Given the description of an element on the screen output the (x, y) to click on. 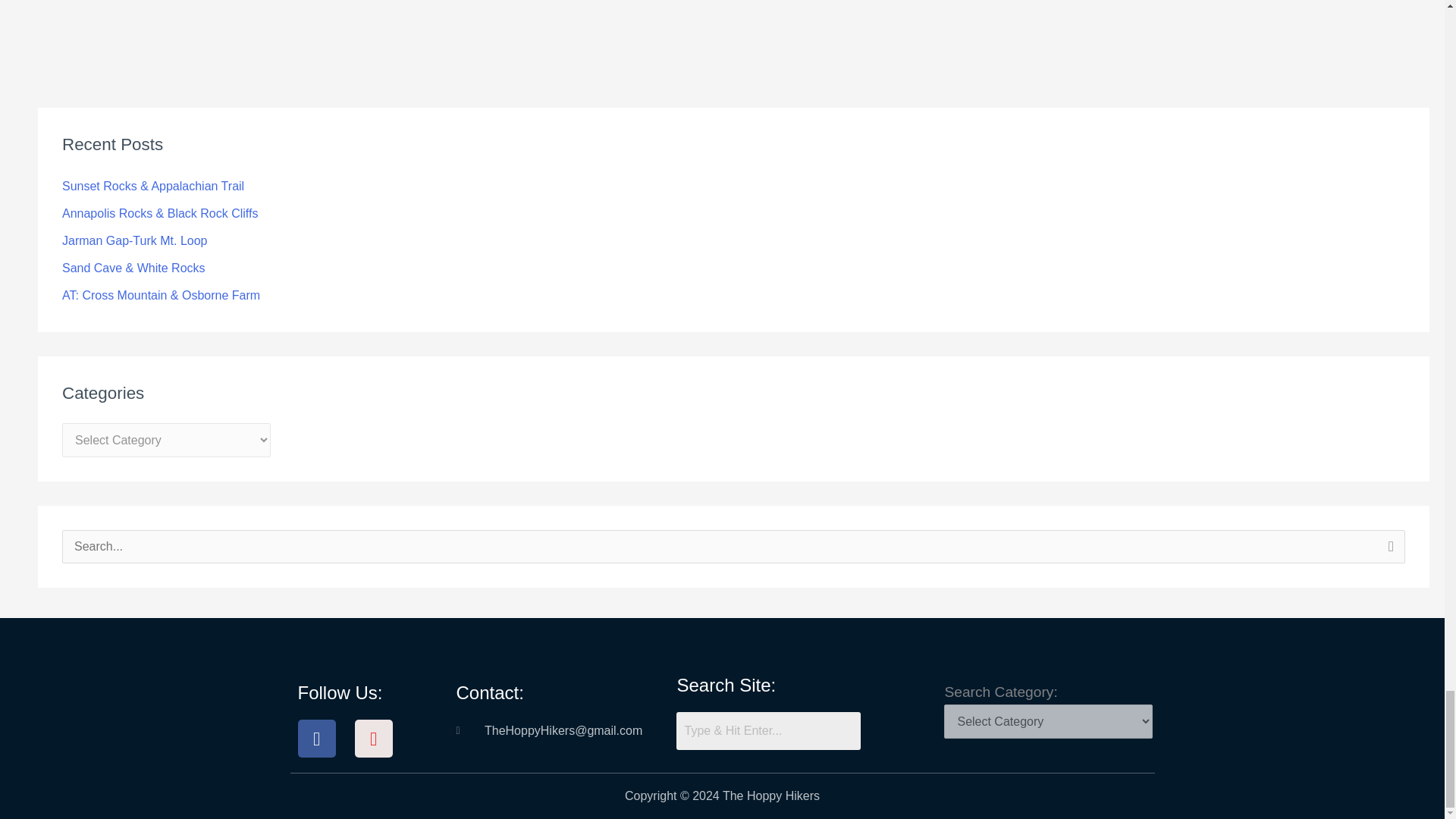
Search (1388, 550)
Search (1388, 550)
Rapidan Camp Loop (61, 4)
Search (768, 730)
Robertson Mountain (1393, 4)
